Given the description of an element on the screen output the (x, y) to click on. 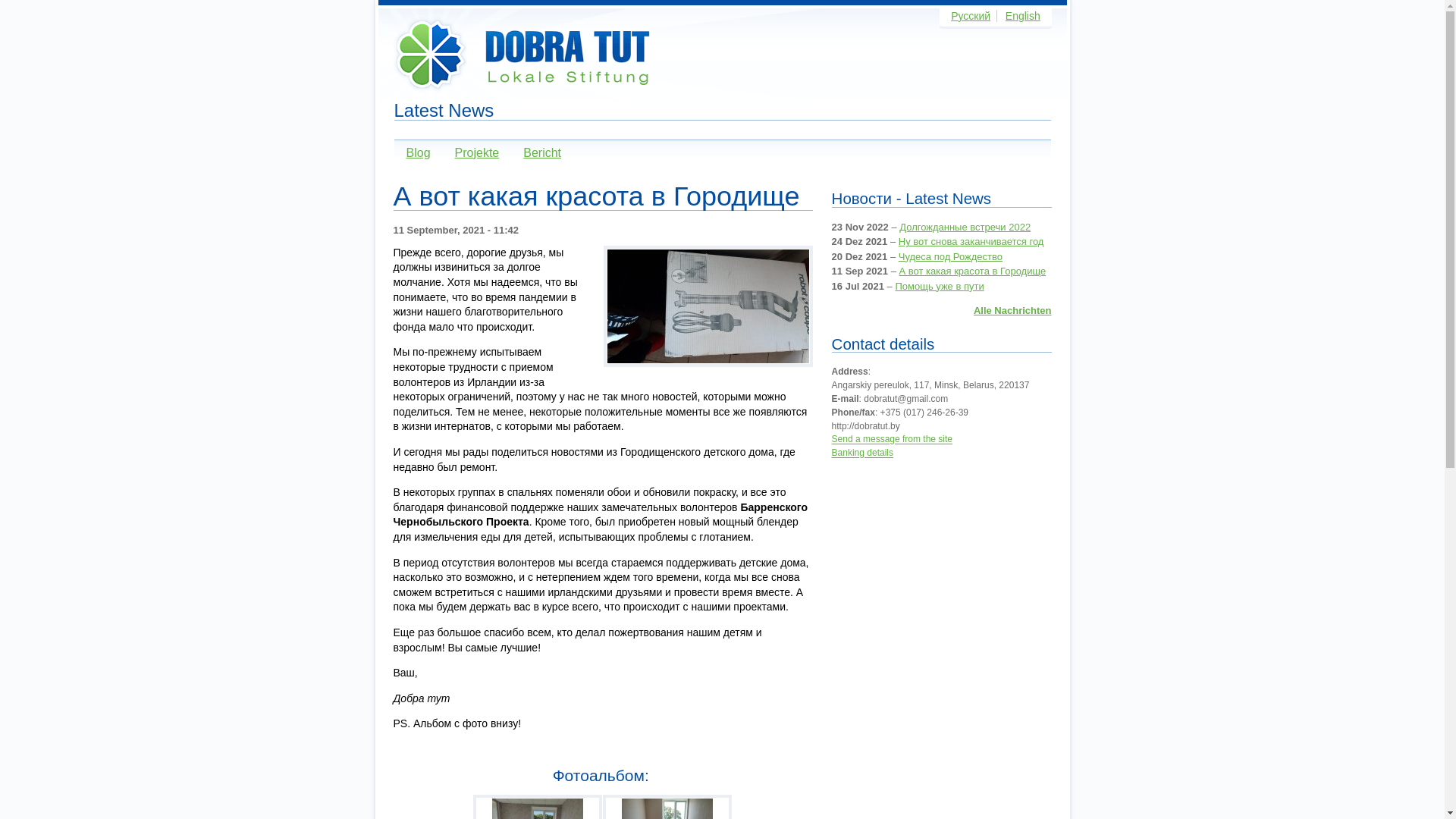
Projekte Element type: text (470, 153)
Banking details Element type: text (862, 452)
Send a message from the site Element type: text (891, 439)
Contact details Element type: text (883, 343)
Bericht Element type: text (536, 153)
Blog Element type: text (412, 153)
Alle Nachrichten Element type: text (1012, 310)
English Element type: text (1022, 15)
Auf die Hauptseite gegen Element type: hover (525, 57)
